Given the description of an element on the screen output the (x, y) to click on. 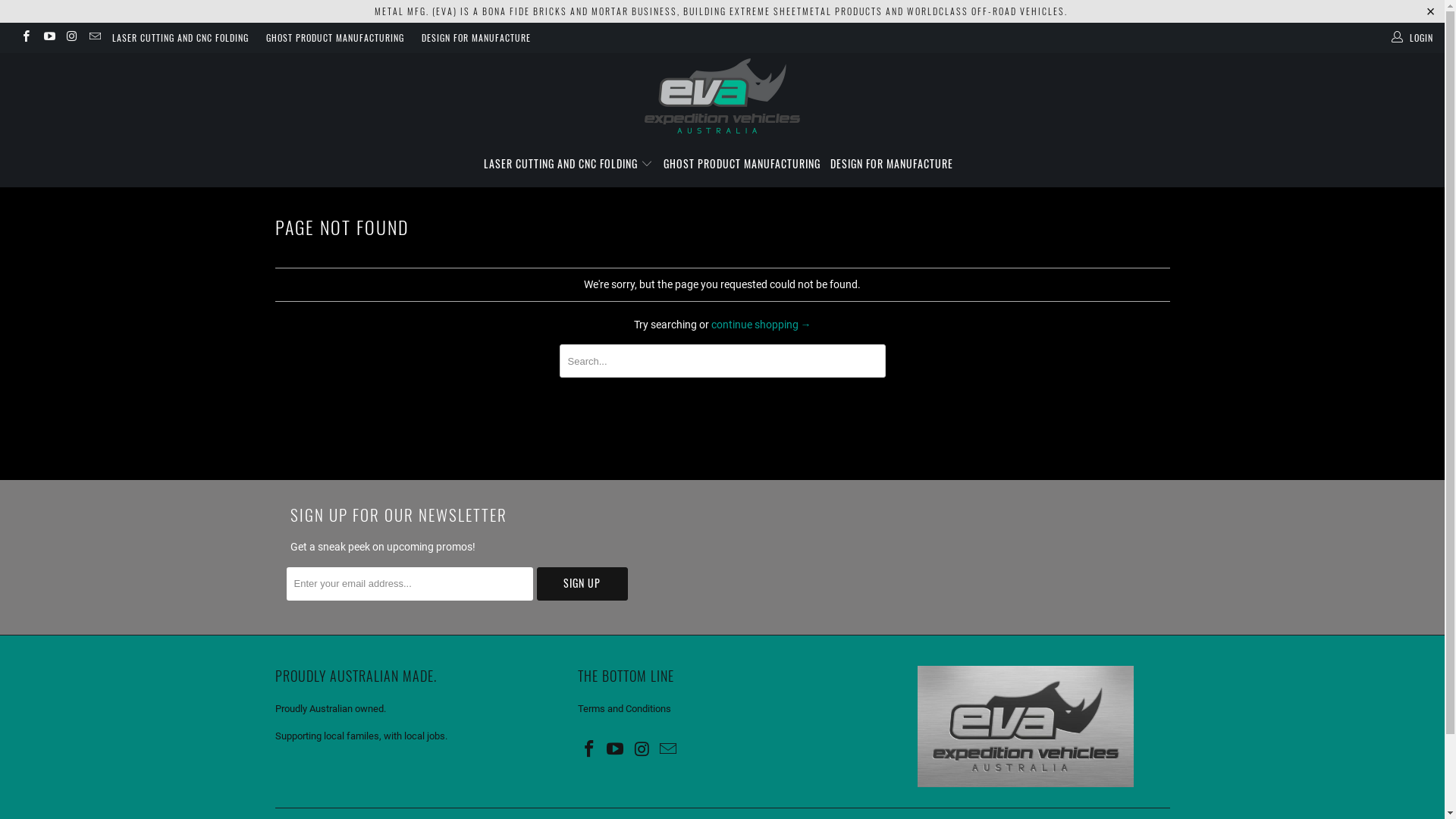
Sign Up Element type: text (581, 583)
Terms and Conditions Element type: text (624, 708)
DESIGN FOR MANUFACTURE Element type: text (475, 37)
Metal MFG. (Expedition Vehicles Australia Pty Ltd) Element type: hover (722, 96)
LOGIN Element type: text (1413, 37)
LASER CUTTING AND CNC FOLDING Element type: text (180, 37)
GHOST PRODUCT MANUFACTURING Element type: text (741, 164)
LASER CUTTING AND CNC FOLDING Element type: text (567, 164)
Email Metal MFG. (Expedition Vehicles Australia Pty Ltd) Element type: hover (668, 749)
DESIGN FOR MANUFACTURE Element type: text (891, 164)
GHOST PRODUCT MANUFACTURING Element type: text (335, 37)
Email Metal MFG. (Expedition Vehicles Australia Pty Ltd) Element type: hover (93, 37)
